Given the description of an element on the screen output the (x, y) to click on. 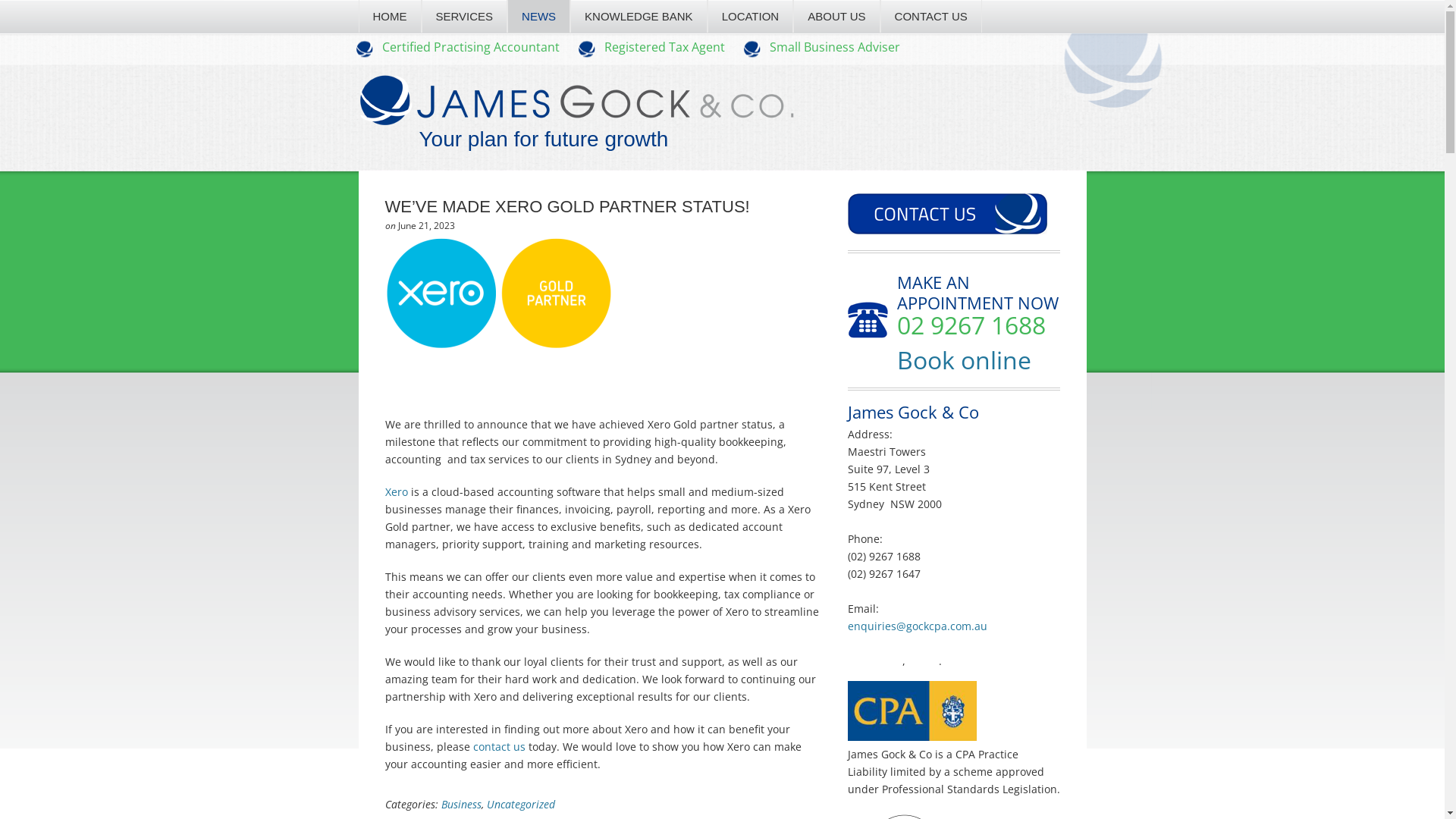
LOCATION Element type: text (750, 16)
Book online Element type: text (963, 359)
NEWS Element type: text (538, 16)
SERVICES Element type: text (464, 16)
KNOWLEDGE BANK Element type: text (638, 16)
contact us Element type: text (499, 746)
Business Element type: text (461, 804)
enquiries@gockcpa.com.au Element type: text (917, 625)
HOME Element type: text (388, 16)
James Gock & Co. Element type: text (575, 114)
Uncategorized Element type: text (520, 804)
ABOUT US Element type: text (836, 16)
Xero Element type: text (396, 491)
CONTACT US Element type: text (931, 16)
